Given the description of an element on the screen output the (x, y) to click on. 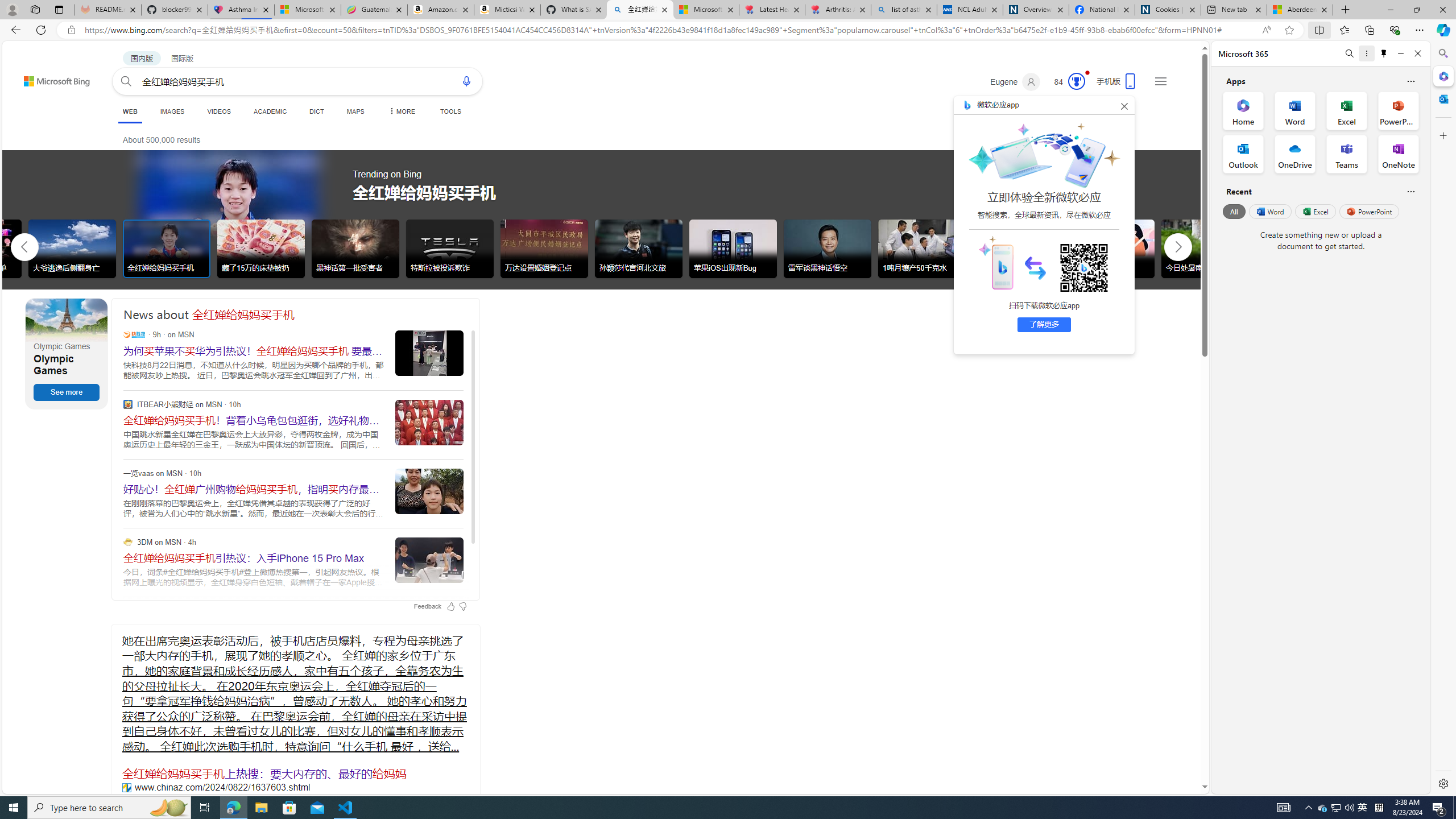
PowerPoint (1369, 210)
Is this helpful? (1410, 191)
Cookies | About | NICE (1167, 9)
Settings and quick links (1160, 80)
OneNote Office App (1398, 154)
Dropdown Menu (400, 111)
AutomationID: tob_right_arrow (1177, 246)
